Given the description of an element on the screen output the (x, y) to click on. 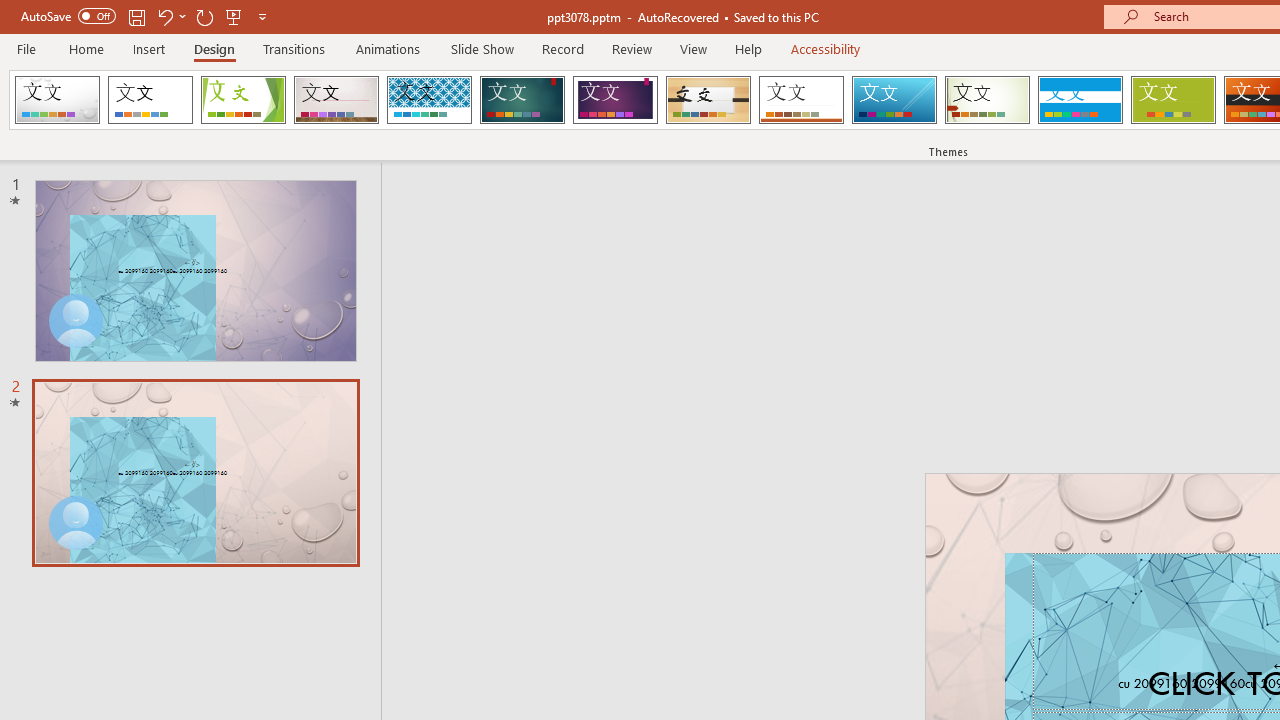
Integral (429, 100)
Slice (893, 100)
Ion Boardroom (615, 100)
Basis (1172, 100)
